Given the description of an element on the screen output the (x, y) to click on. 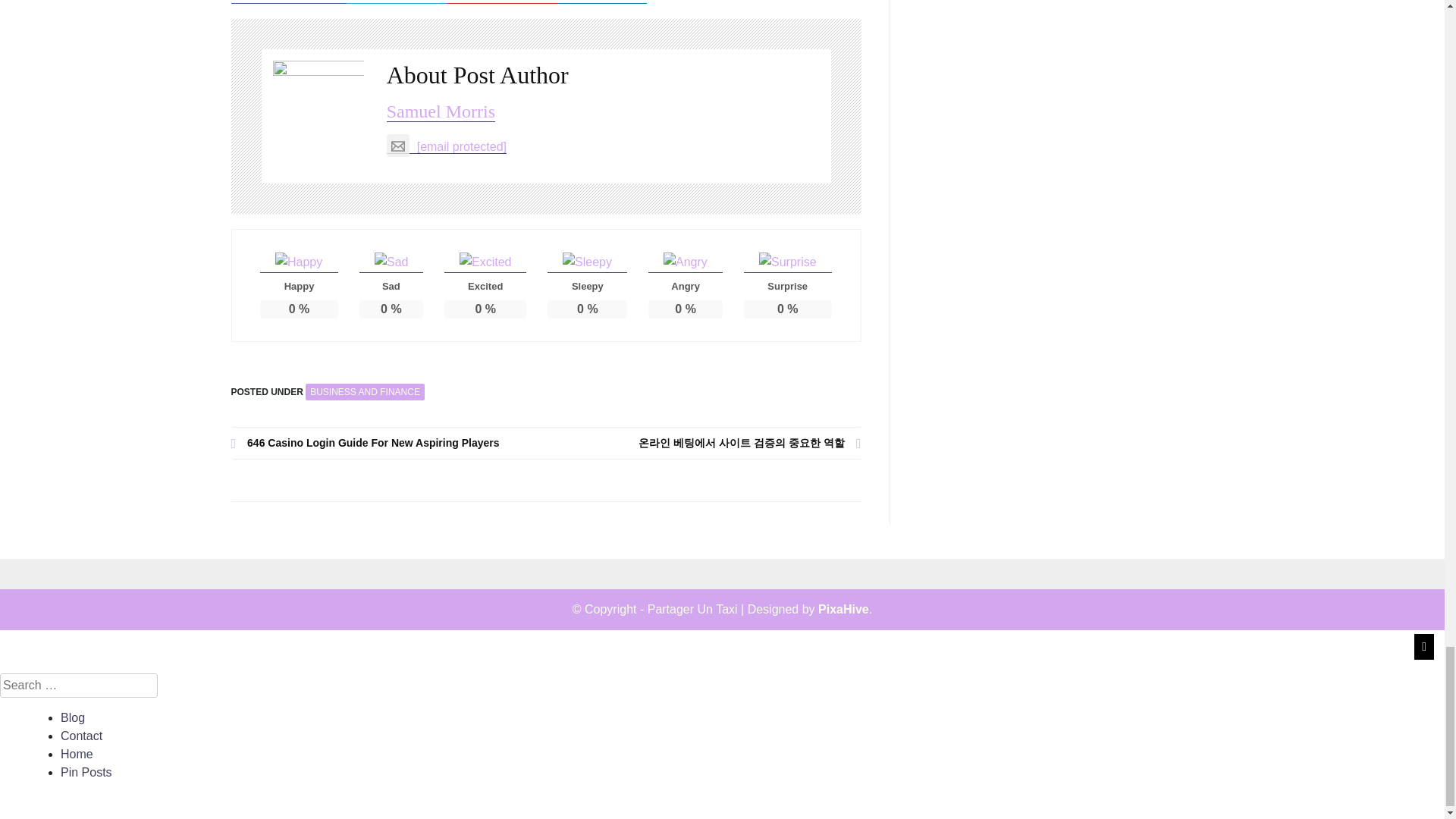
BUSINESS AND FINANCE (365, 392)
Pinterest (501, 2)
646 Casino Login Guide For New Aspiring Players (388, 442)
Samuel Morris (441, 111)
Facebook (288, 2)
LinkedIn (601, 2)
Twitter (396, 2)
